Given the description of an element on the screen output the (x, y) to click on. 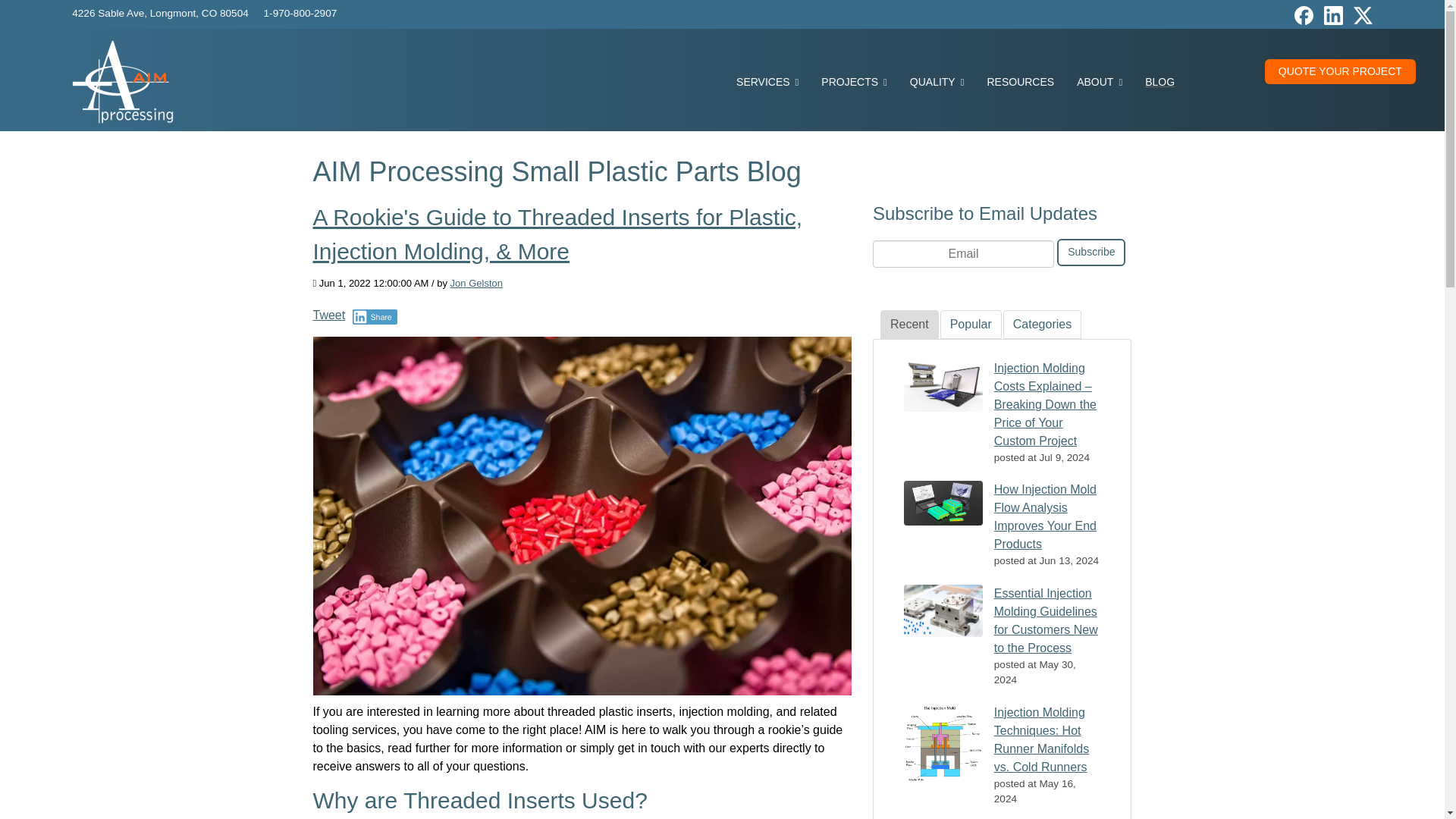
AIM Logo (122, 81)
Share (374, 316)
Subscribe (1091, 252)
Quote Your Project (1340, 71)
RESOURCES (1020, 81)
Tweet (329, 314)
ABOUT (1099, 81)
Jon Gelston (475, 283)
SERVICES (767, 81)
PROJECTS (853, 81)
QUOTE YOUR PROJECT (1340, 71)
Subscribe (1091, 252)
BLOG (1160, 81)
QUALITY (936, 81)
